Given the description of an element on the screen output the (x, y) to click on. 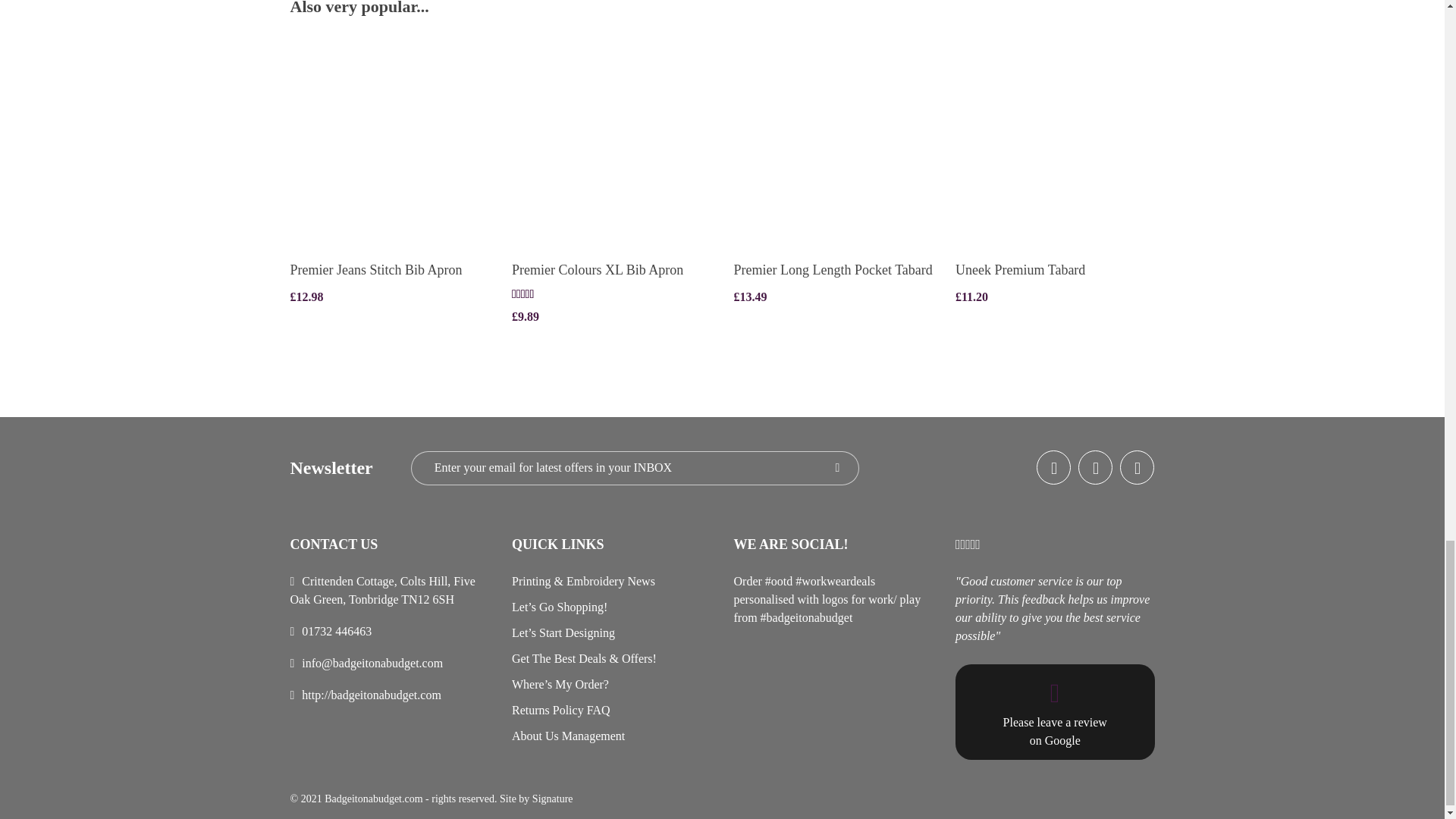
send mail (371, 662)
website (371, 694)
